Given the description of an element on the screen output the (x, y) to click on. 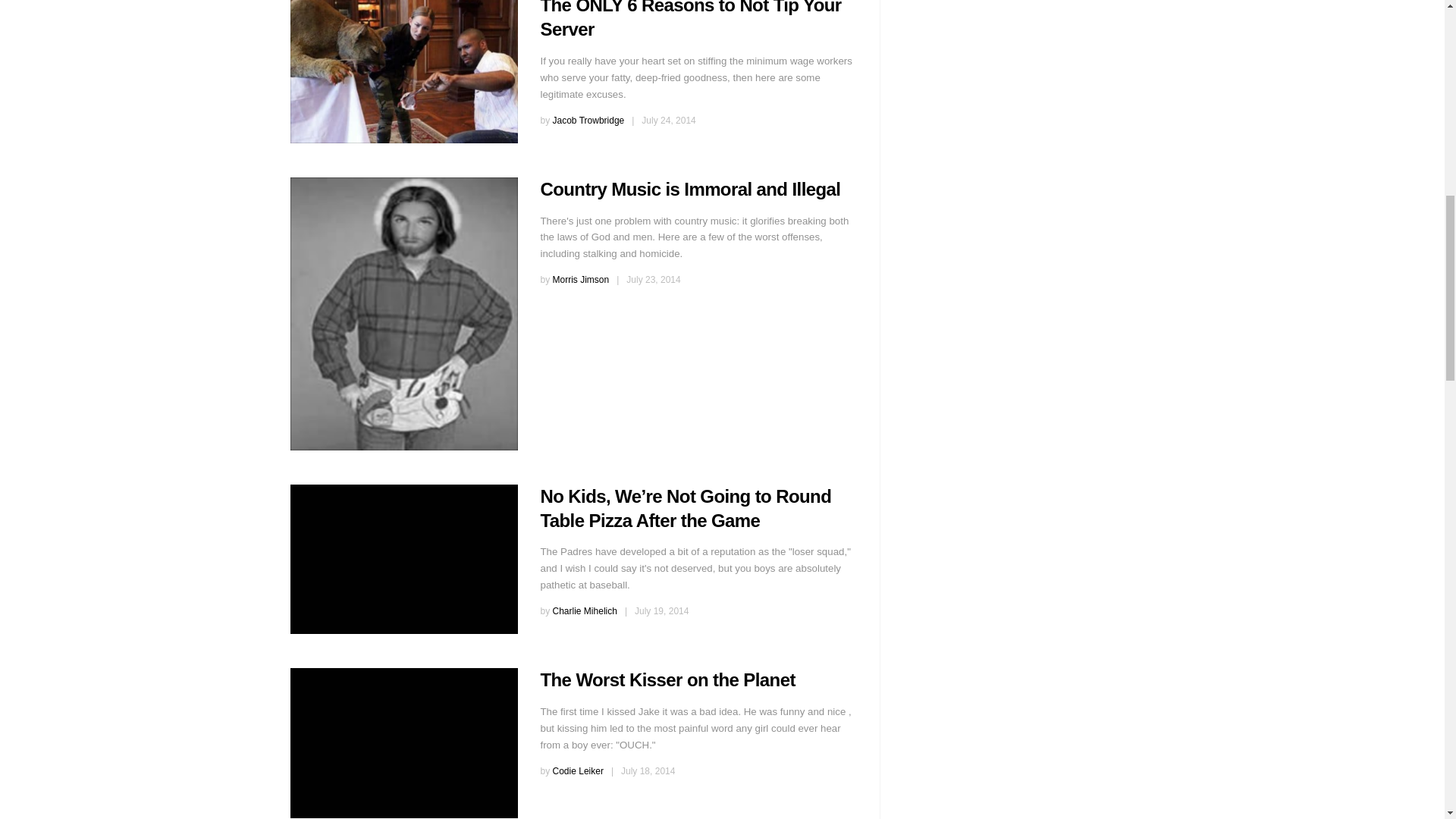
Posts by Codie Leiker (578, 770)
The ONLY 6 Reasons to Not Tip Your Server (402, 71)
Morris Jimson (581, 279)
Posts by Morris Jimson (581, 279)
Jacob Trowbridge (588, 120)
Country Music is Immoral and Illegal (690, 189)
Posts by Charlie Mihelich (585, 611)
The Worst Kisser on the Planet (402, 743)
Codie Leiker (578, 770)
The Worst Kisser on the Planet (667, 679)
The ONLY 6 Reasons to Not Tip Your Server (690, 19)
Charlie Mihelich (585, 611)
Posts by Jacob Trowbridge (588, 120)
